Given the description of an element on the screen output the (x, y) to click on. 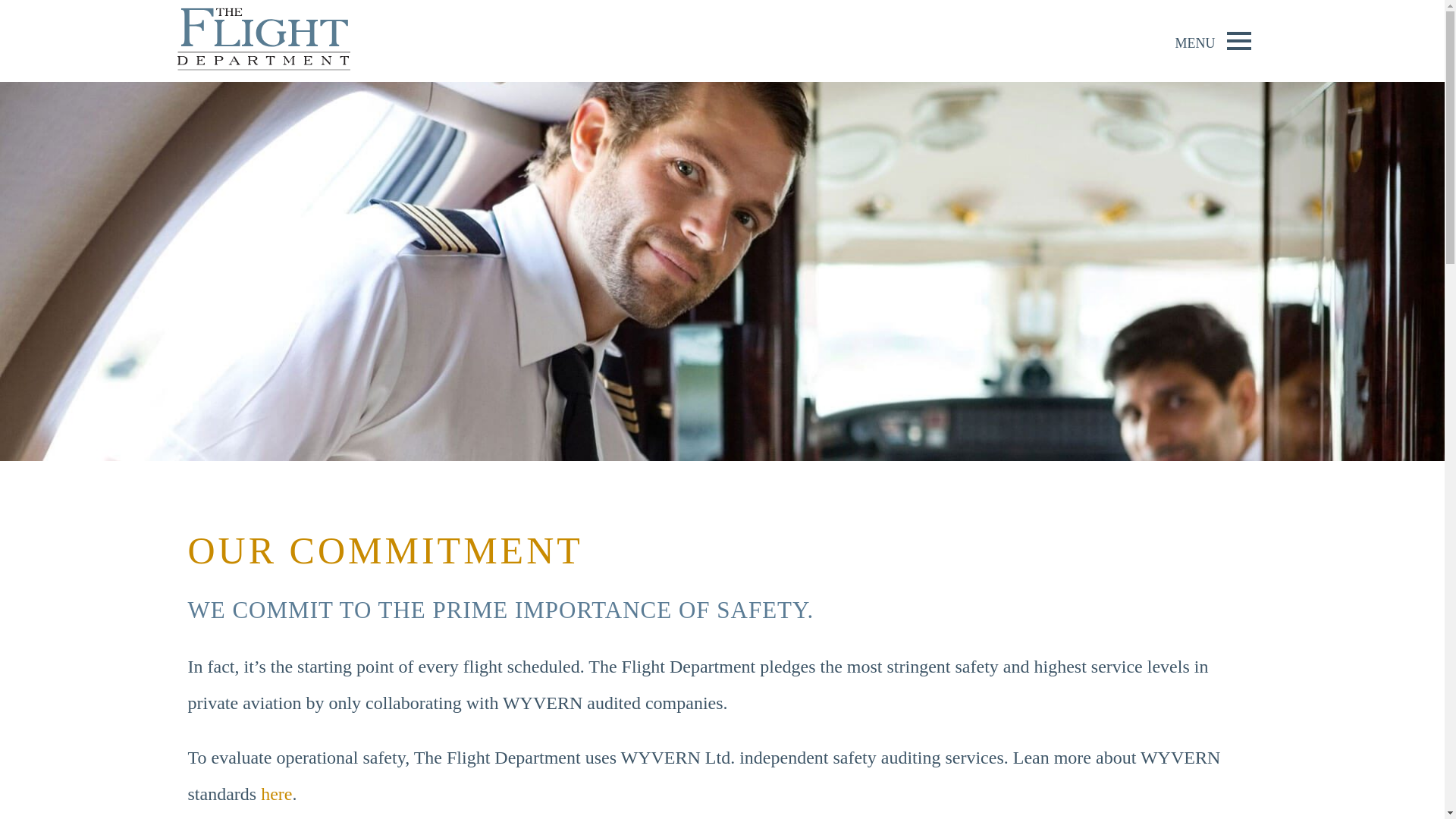
here (276, 793)
Toggle Navigation (1239, 40)
Go Home (263, 40)
